Given the description of an element on the screen output the (x, y) to click on. 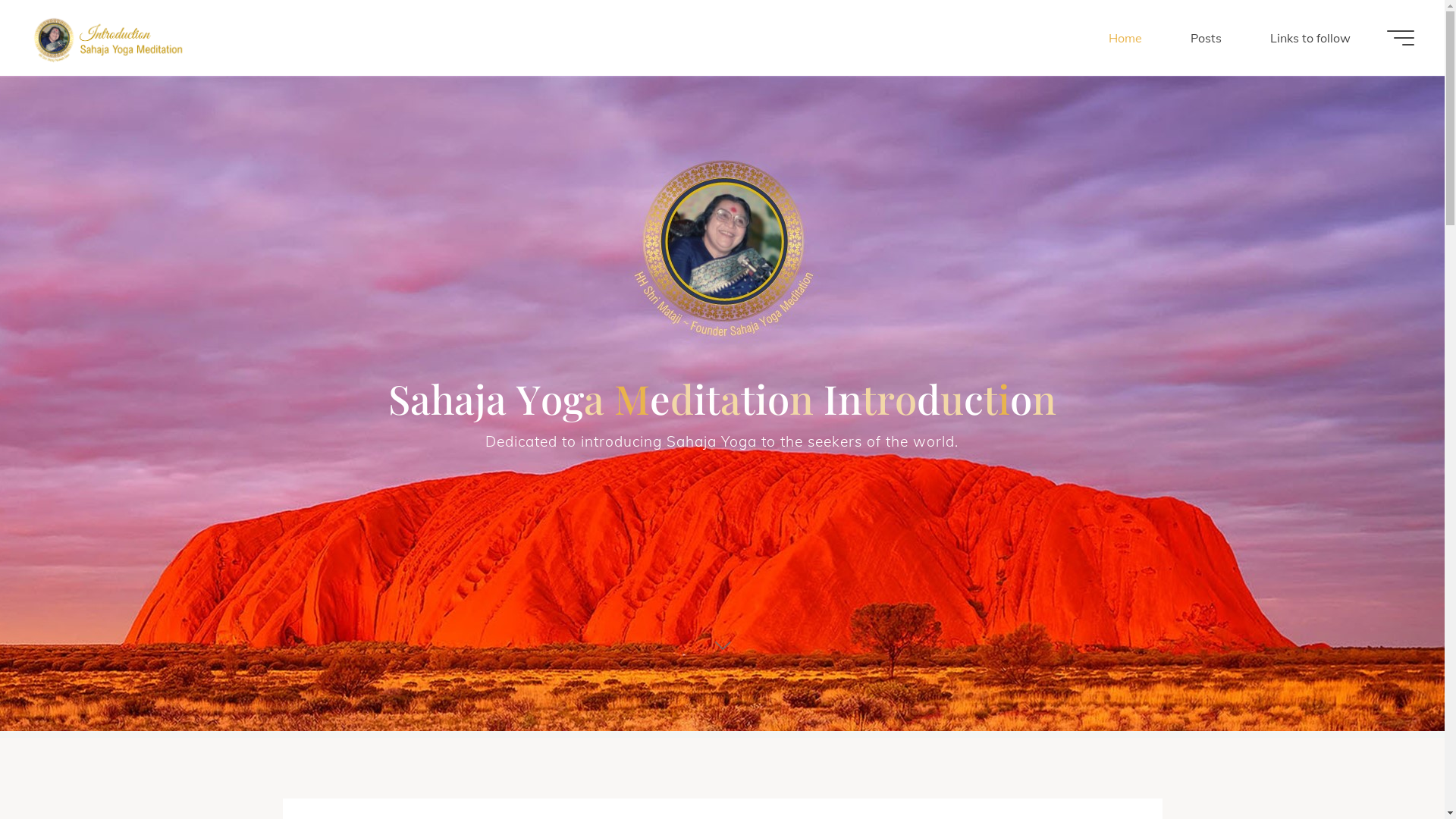
Home Element type: text (1125, 37)
Posts Element type: text (1205, 37)
Sahaja Yoga Meditation Introduction Element type: hover (109, 37)
Links to follow Element type: text (1309, 37)
Read more Element type: hover (721, 644)
